Given the description of an element on the screen output the (x, y) to click on. 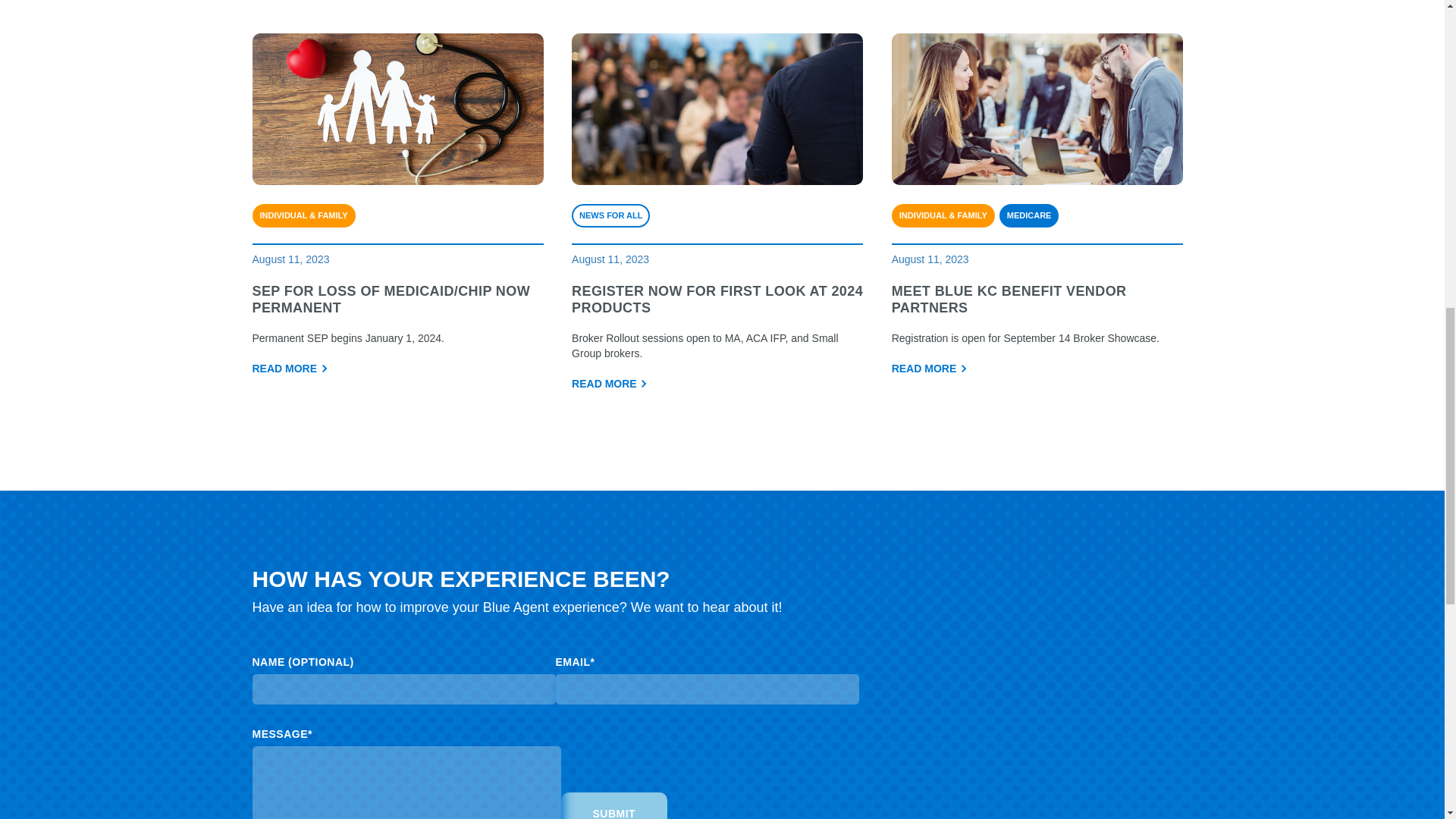
Submit (614, 805)
READ MORE (290, 368)
Submit (614, 805)
READ MORE (929, 368)
READ MORE (609, 384)
